Given the description of an element on the screen output the (x, y) to click on. 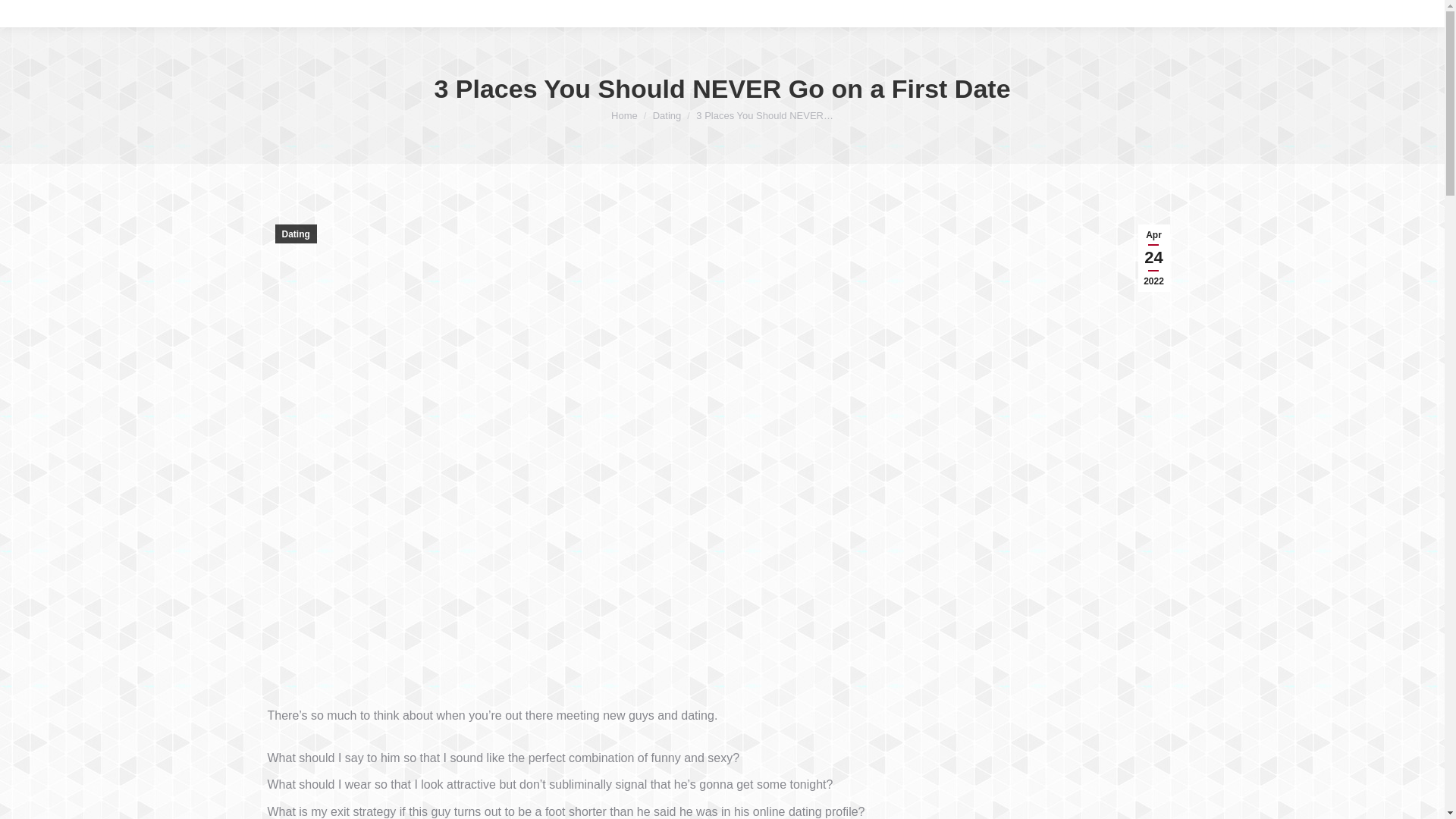
Dating (1153, 257)
Dating (666, 115)
Dating (666, 115)
Home (295, 233)
Home (624, 115)
